Given the description of an element on the screen output the (x, y) to click on. 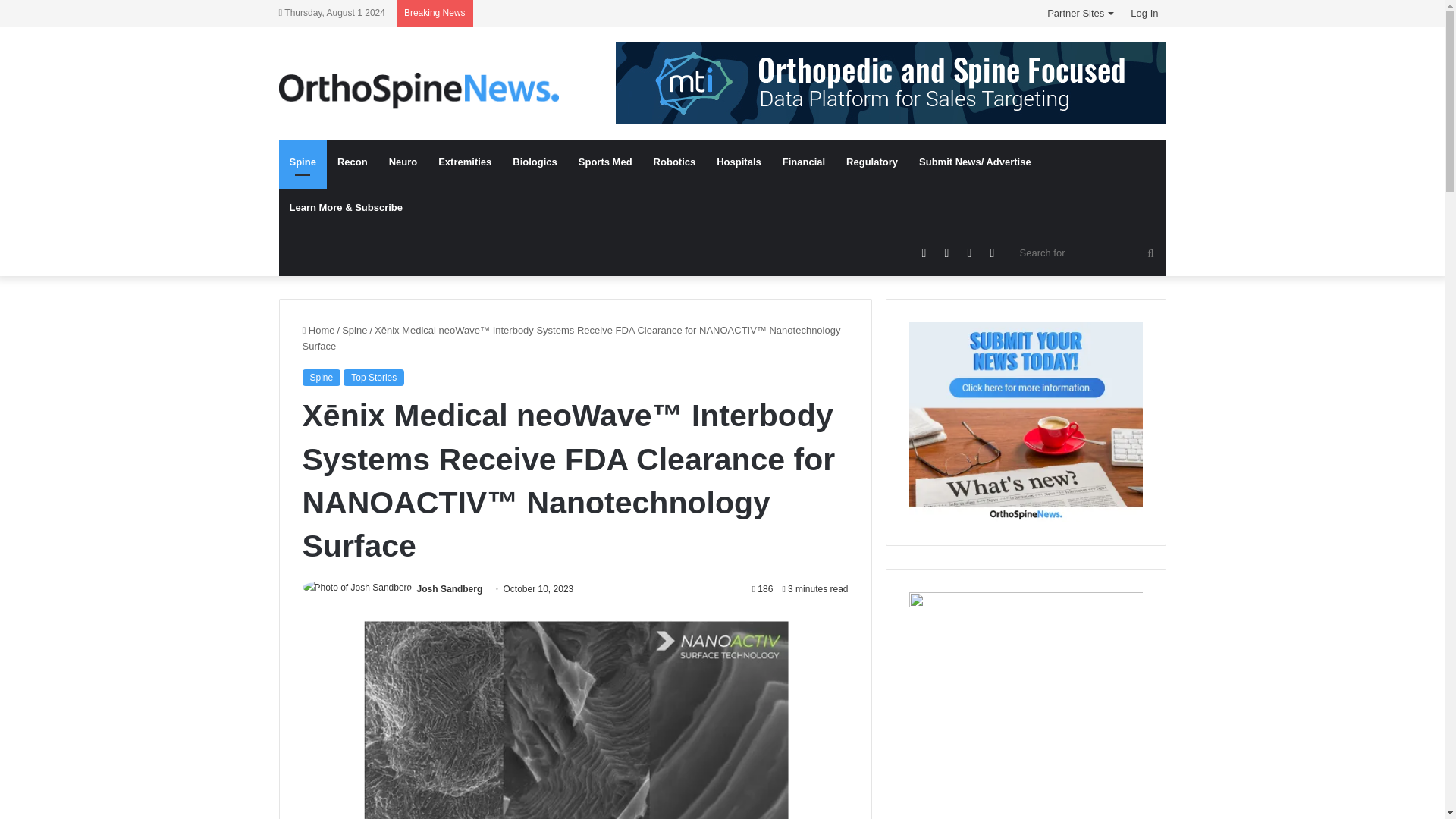
Spine (354, 329)
Ortho Spine News (419, 90)
Spine (320, 377)
Neuro (403, 162)
Biologics (534, 162)
Partner Sites (1080, 13)
Log In (1144, 13)
Search for (1088, 253)
Josh Sandberg (449, 588)
Regulatory (871, 162)
